Given the description of an element on the screen output the (x, y) to click on. 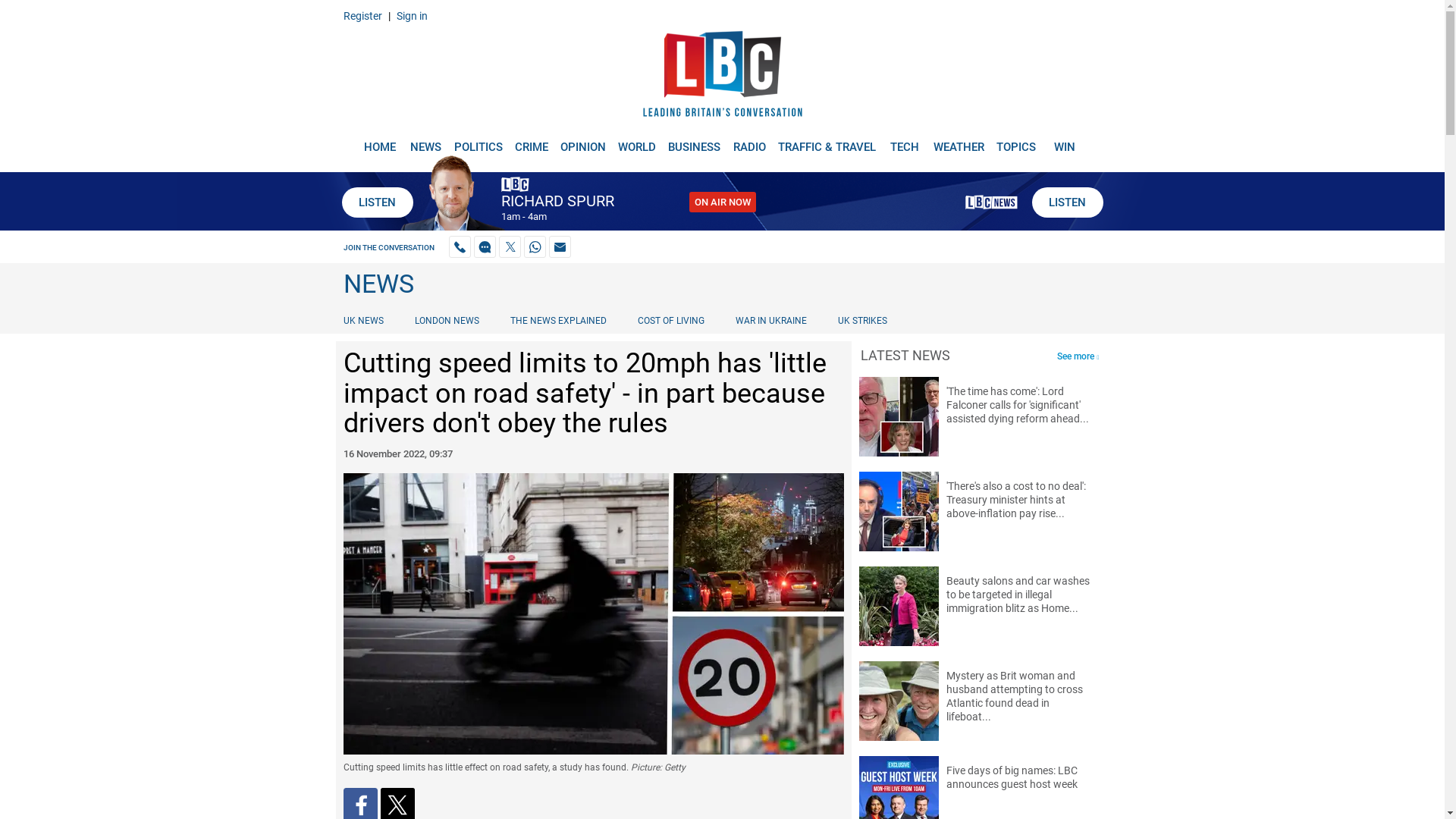
POLITICS (478, 140)
COST OF LIVING (670, 320)
Sign in (411, 15)
LISTEN (1066, 202)
BUSINESS (694, 140)
WIN (1064, 140)
LISTEN (376, 202)
TOPICS (1016, 140)
WORLD (636, 140)
THE NEWS EXPLAINED (558, 320)
CRIME (531, 140)
RADIO (748, 140)
HOME (379, 140)
Register (361, 15)
LONDON NEWS (446, 320)
